Given the description of an element on the screen output the (x, y) to click on. 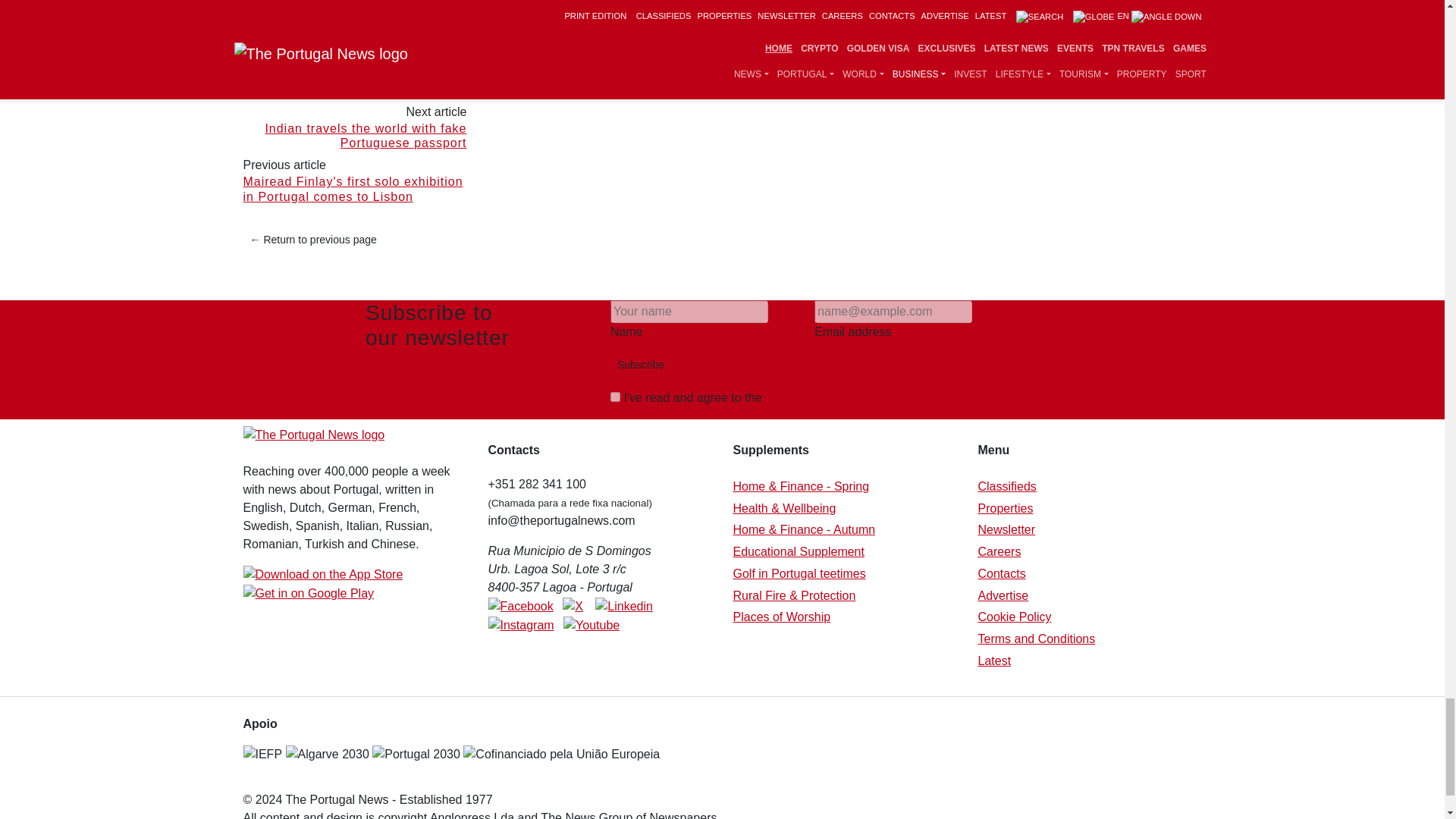
on (615, 397)
